Given the description of an element on the screen output the (x, y) to click on. 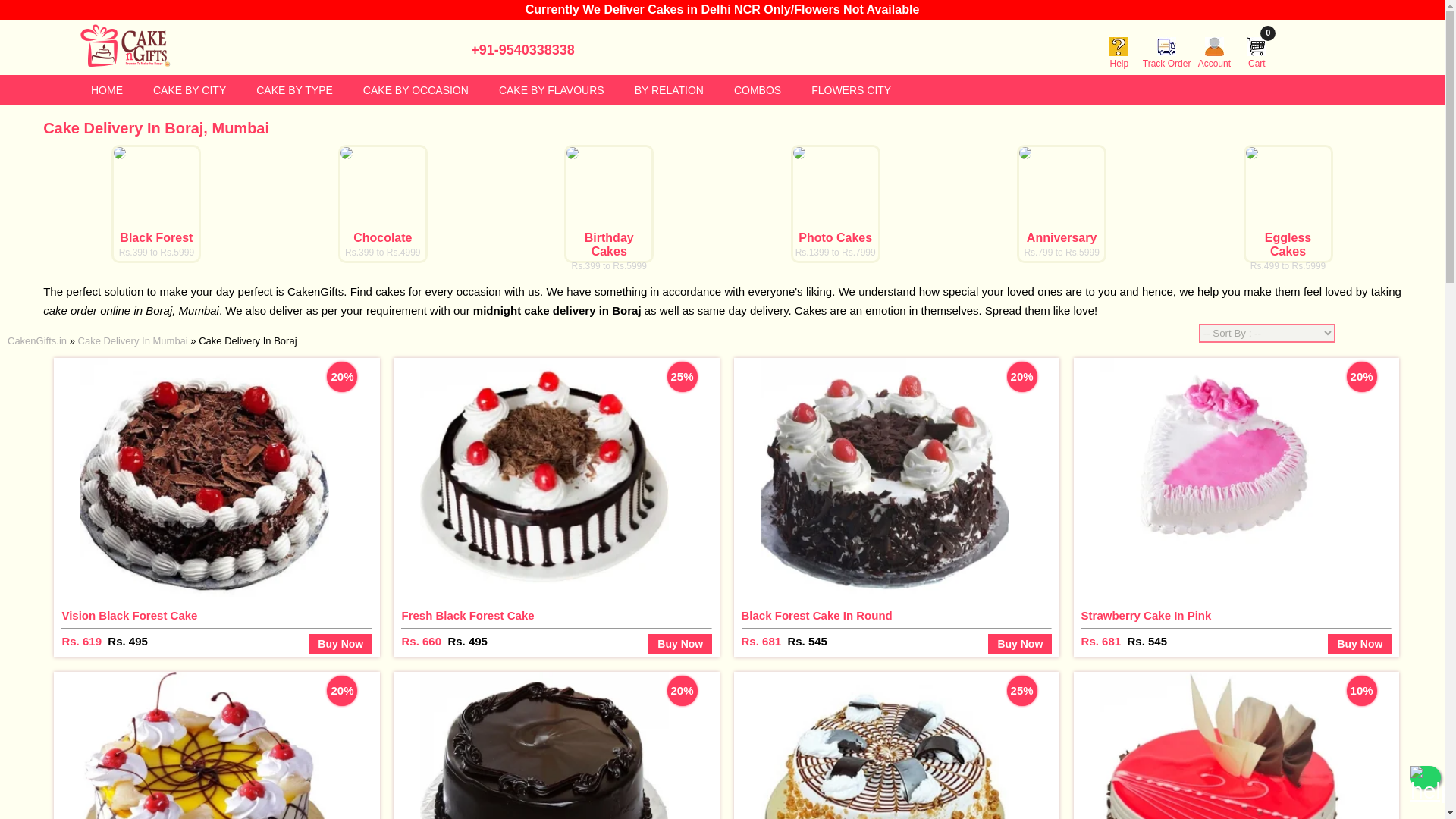
HOME (106, 90)
Help (1119, 57)
CAKE BY TYPE (1256, 57)
CAKE BY CITY (294, 90)
Account (189, 90)
Track Order (1214, 57)
